Given the description of an element on the screen output the (x, y) to click on. 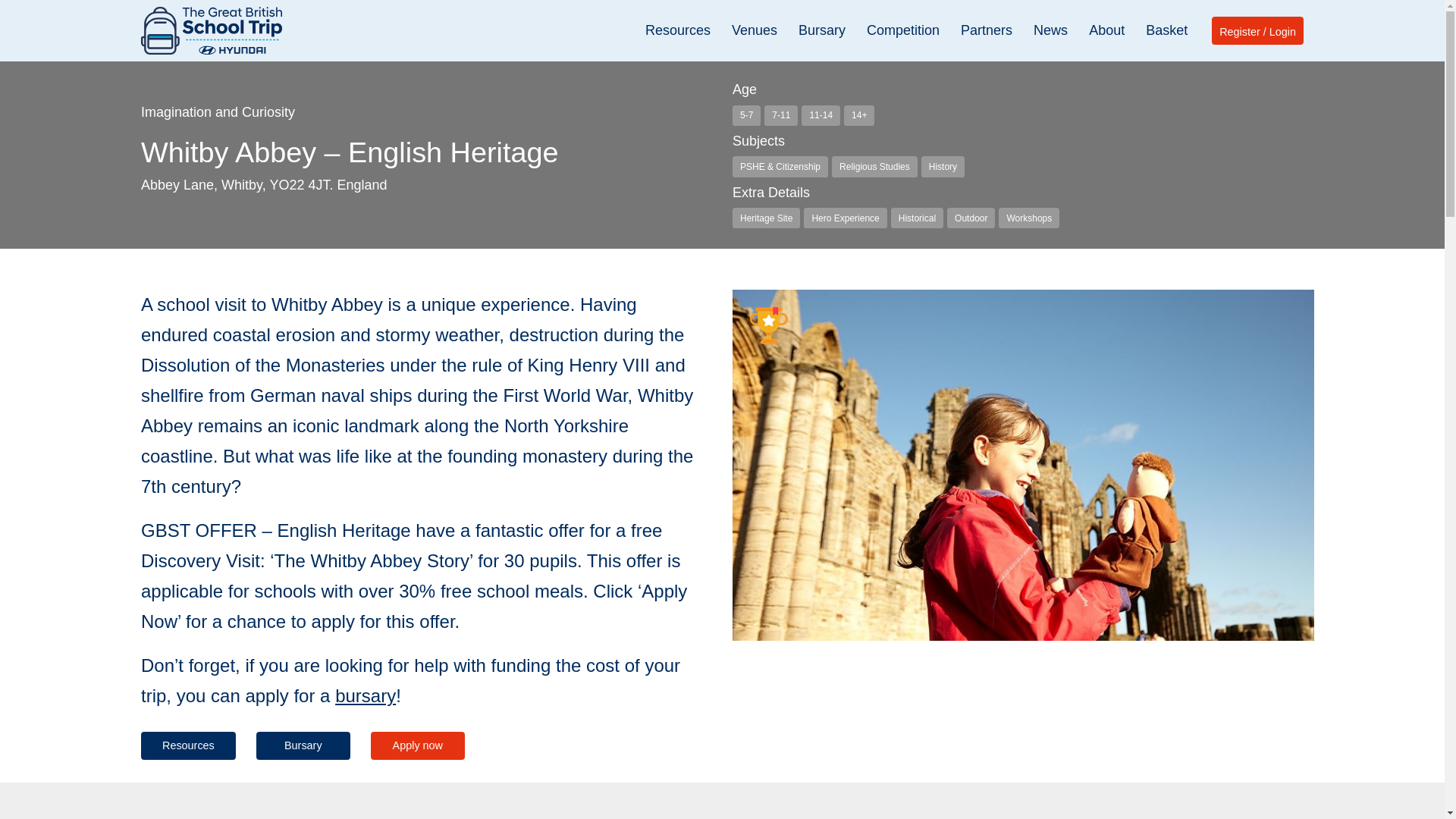
bursary (365, 695)
11-14 (821, 115)
Historical (917, 218)
Venues (754, 30)
Bursary (821, 30)
Workshops (1028, 218)
Religious Studies (874, 166)
About (1106, 30)
Heritage Site (765, 218)
Hero Experience (844, 218)
